Given the description of an element on the screen output the (x, y) to click on. 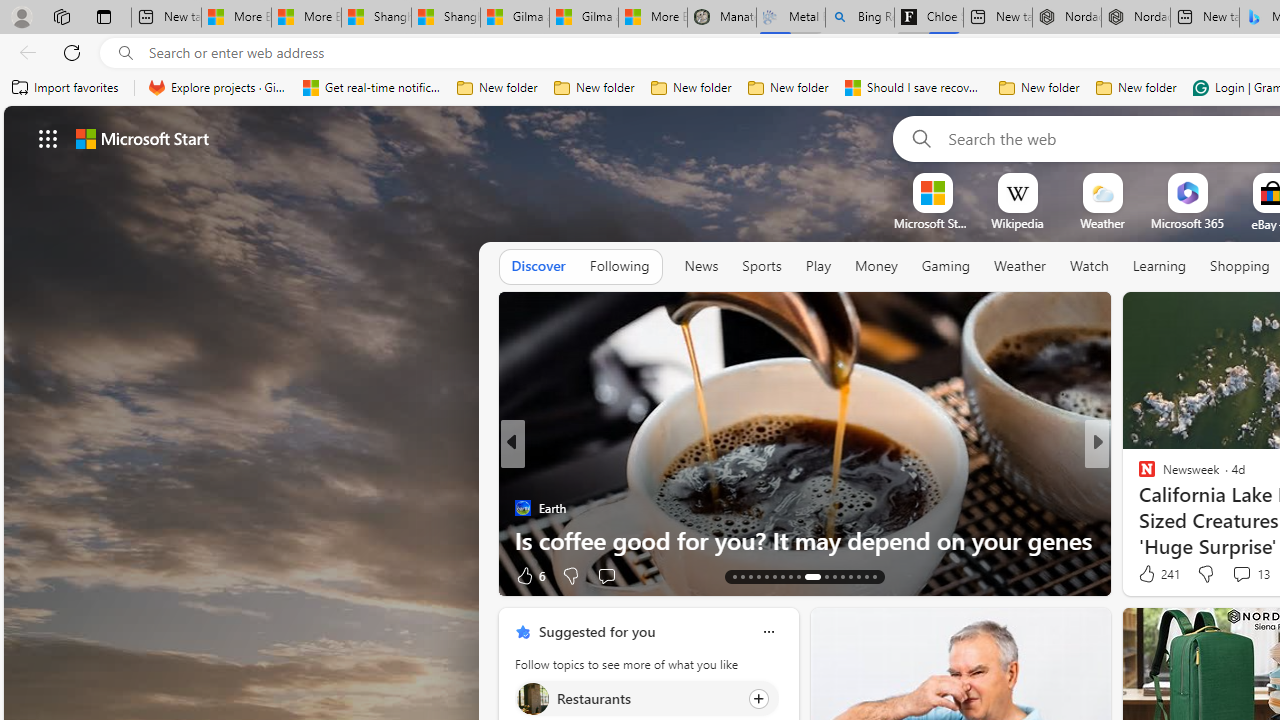
AutomationID: tab-28 (865, 576)
Bing Real Estate - Home sales and rental listings (859, 17)
Money (875, 265)
Should I save recovered Word documents? - Microsoft Support (913, 88)
News (701, 267)
Sports (761, 267)
Chloe Sorvino (928, 17)
Refresh (72, 52)
AutomationID: tab-21 (797, 576)
Microsoft Start Sports (932, 223)
Microsoft start (142, 138)
Shanghai, China weather forecast | Microsoft Weather (445, 17)
AutomationID: tab-23 (822, 576)
AutomationID: waffle (47, 138)
